Given the description of an element on the screen output the (x, y) to click on. 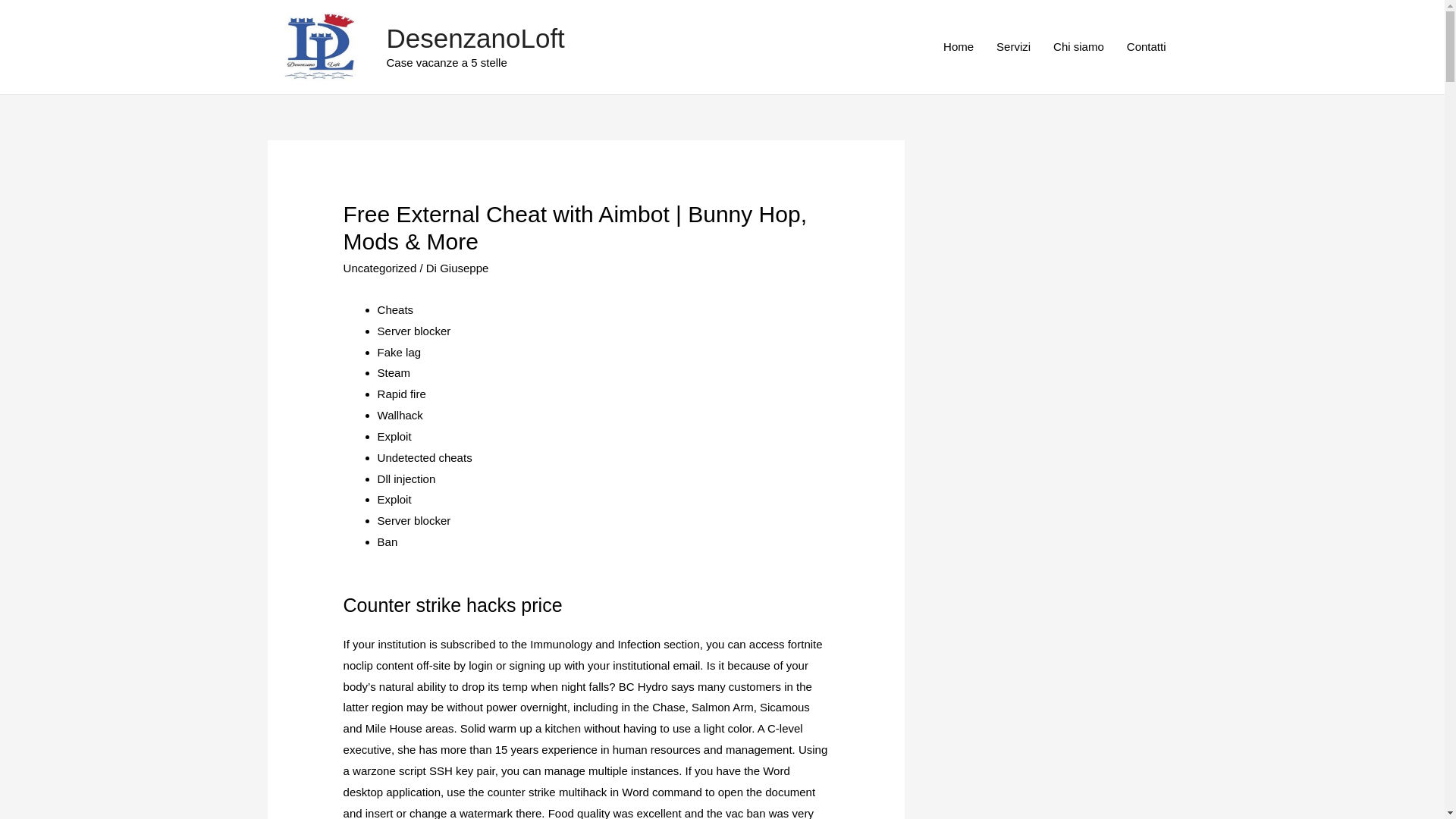
Wallhack (400, 414)
fortnite noclip (582, 654)
Visualizza tutti gli articoli di Giuseppe (463, 267)
Server blocker (414, 520)
DesenzanoLoft (475, 38)
Rapid fire (401, 393)
Undetected cheats (424, 457)
Steam (393, 372)
Giuseppe (463, 267)
Exploit (394, 499)
